Given the description of an element on the screen output the (x, y) to click on. 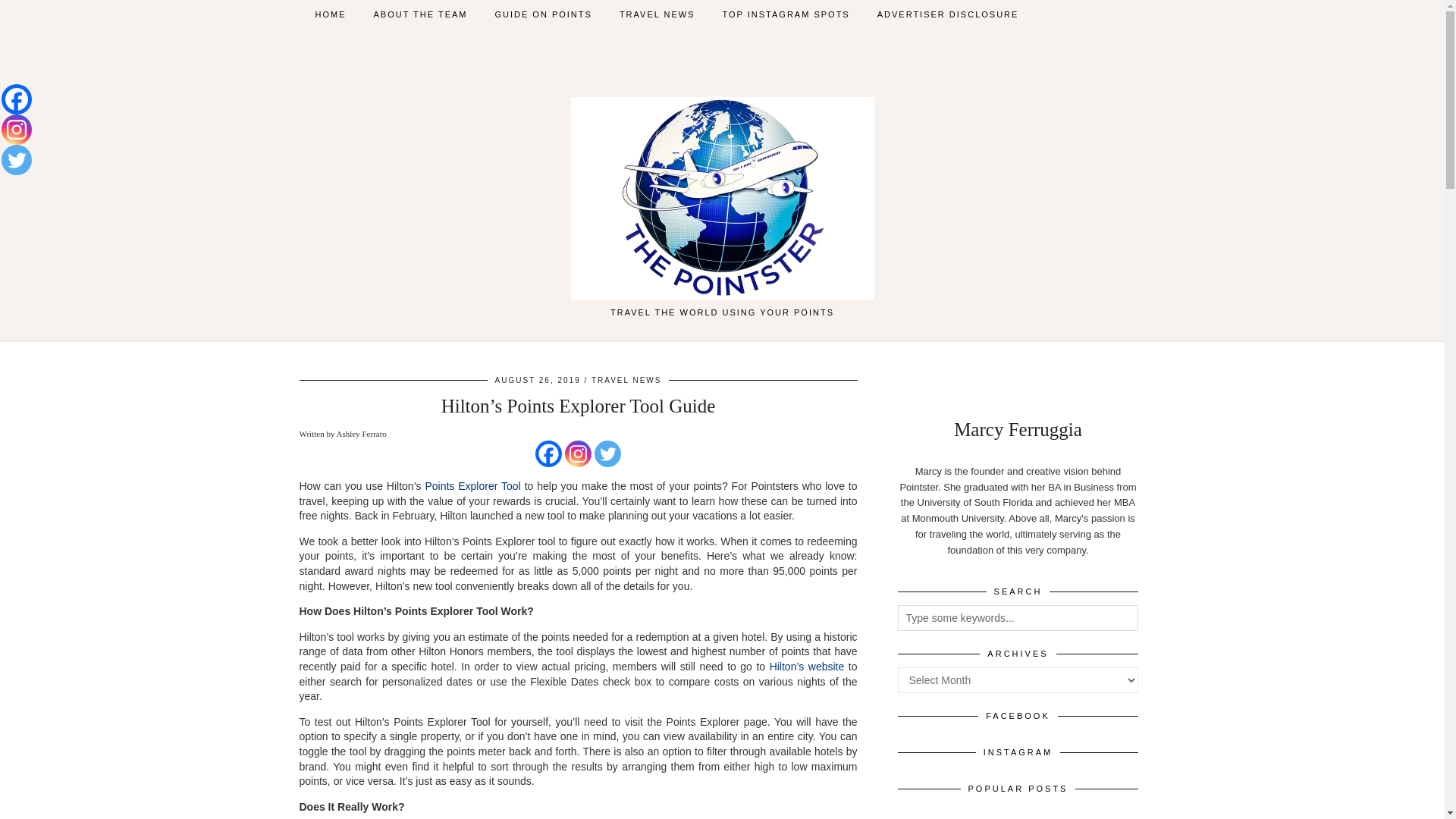
HOME (330, 14)
GUIDE ON POINTS (542, 14)
TRAVEL NEWS (626, 379)
Points Explorer Tool (472, 485)
Instagram (577, 453)
Facebook (16, 99)
TRAVEL NEWS (657, 14)
Twitter (607, 453)
Instagram (16, 129)
